Given the description of an element on the screen output the (x, y) to click on. 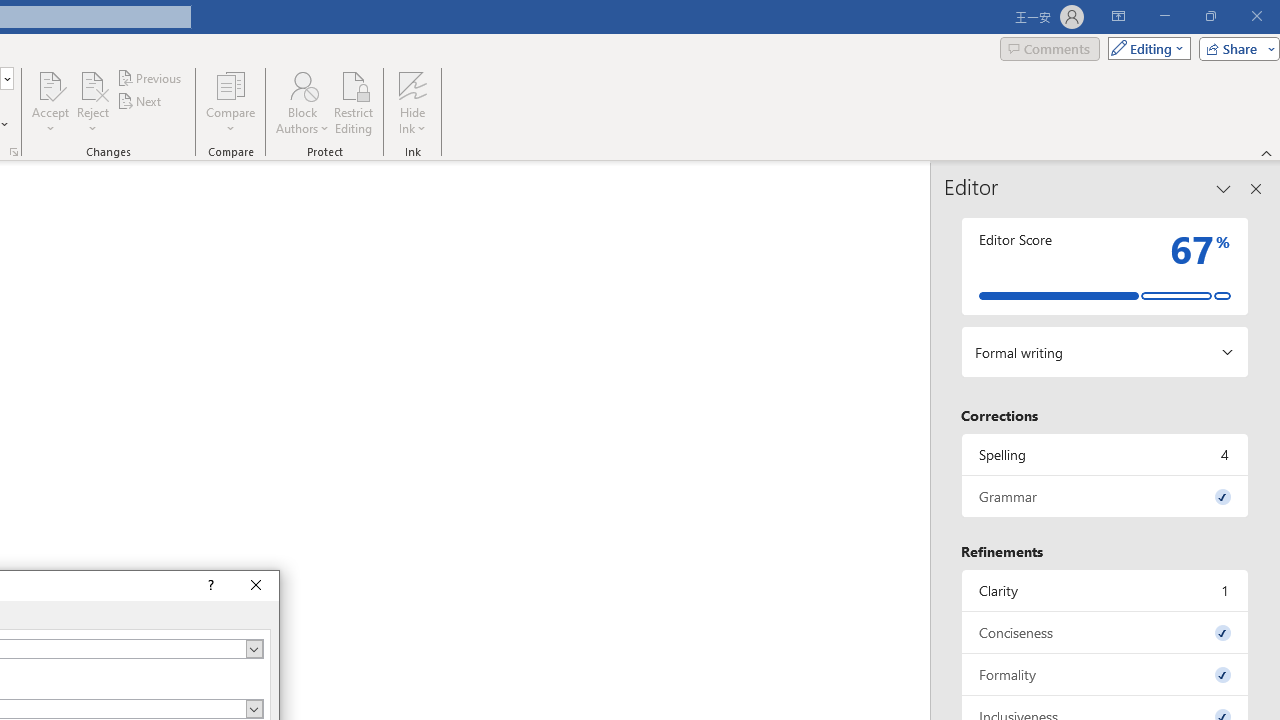
Grammar, 0 issues. Press space or enter to review items. (1105, 495)
Reject and Move to Next (92, 84)
Hide Ink (412, 84)
Change Tracking Options... (13, 151)
Spelling, 4 issues. Press space or enter to review items. (1105, 454)
Editing (1144, 47)
Reject (92, 102)
Editor Score 67% (1105, 266)
Formality, 0 issues. Press space or enter to review items. (1105, 673)
Conciseness, 0 issues. Press space or enter to review items. (1105, 632)
